Given the description of an element on the screen output the (x, y) to click on. 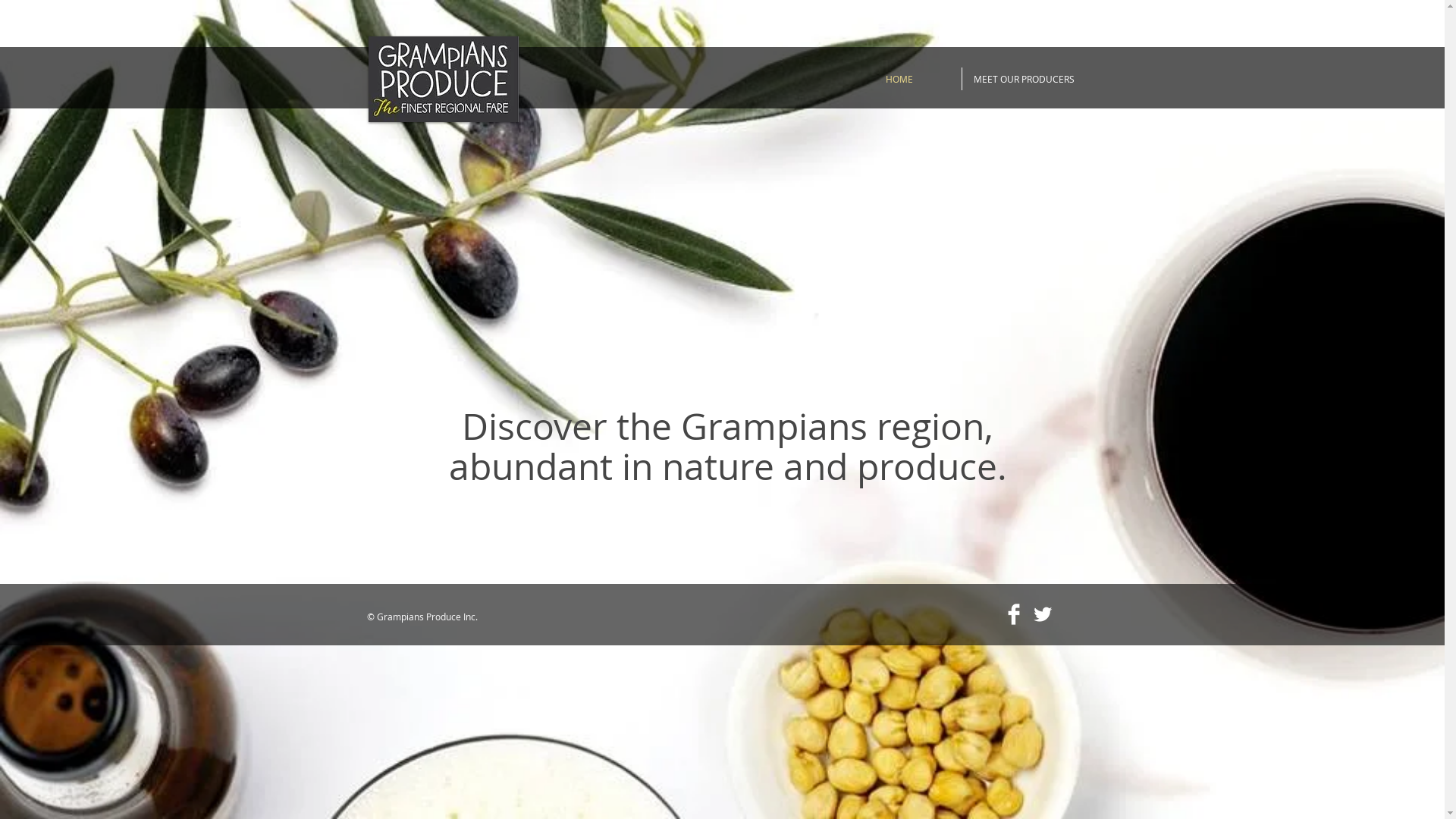
HOME Element type: text (899, 78)
MEET OUR PRODUCERS Element type: text (1023, 78)
